Given the description of an element on the screen output the (x, y) to click on. 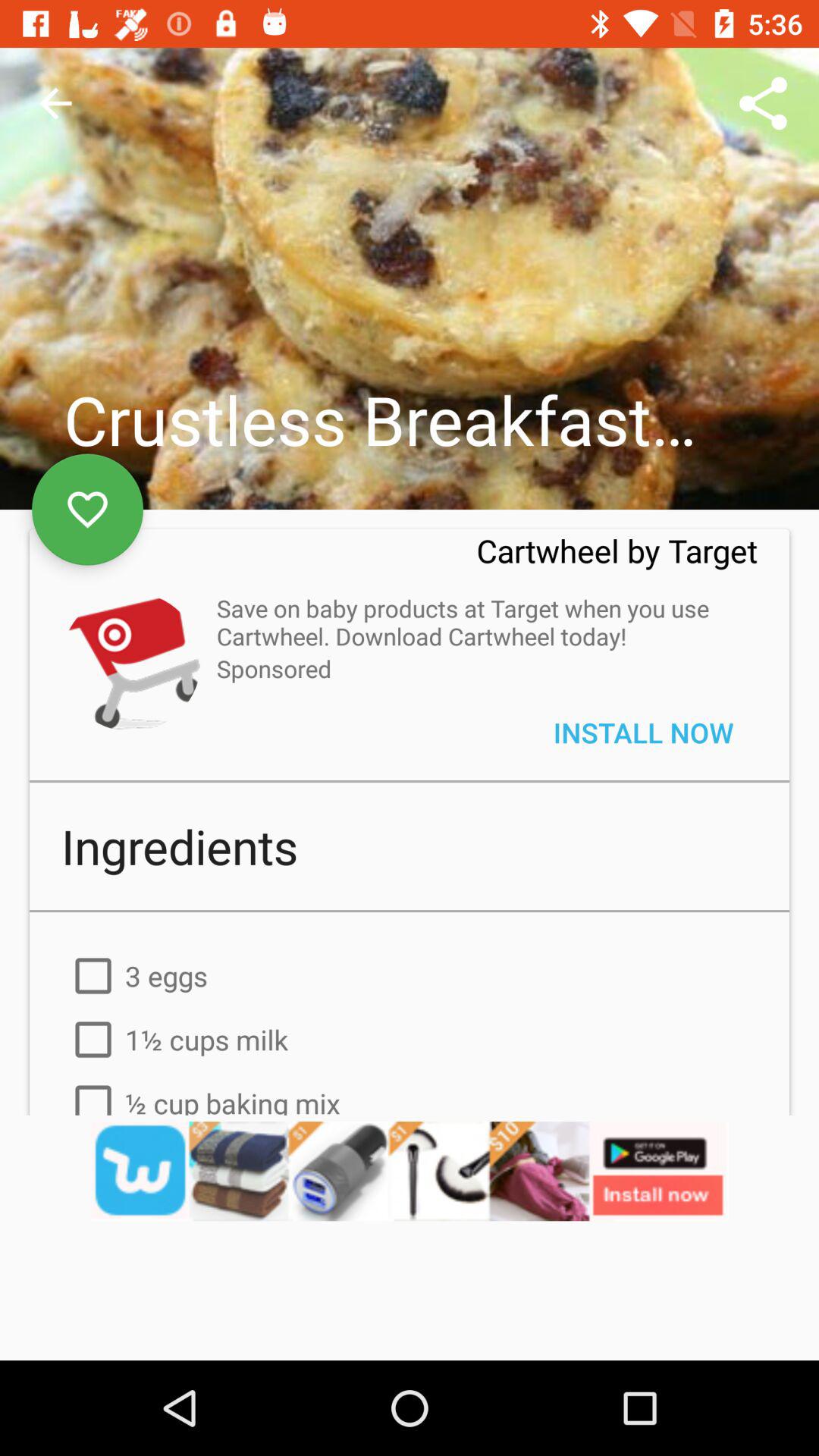
target store app instalation (130, 661)
